Given the description of an element on the screen output the (x, y) to click on. 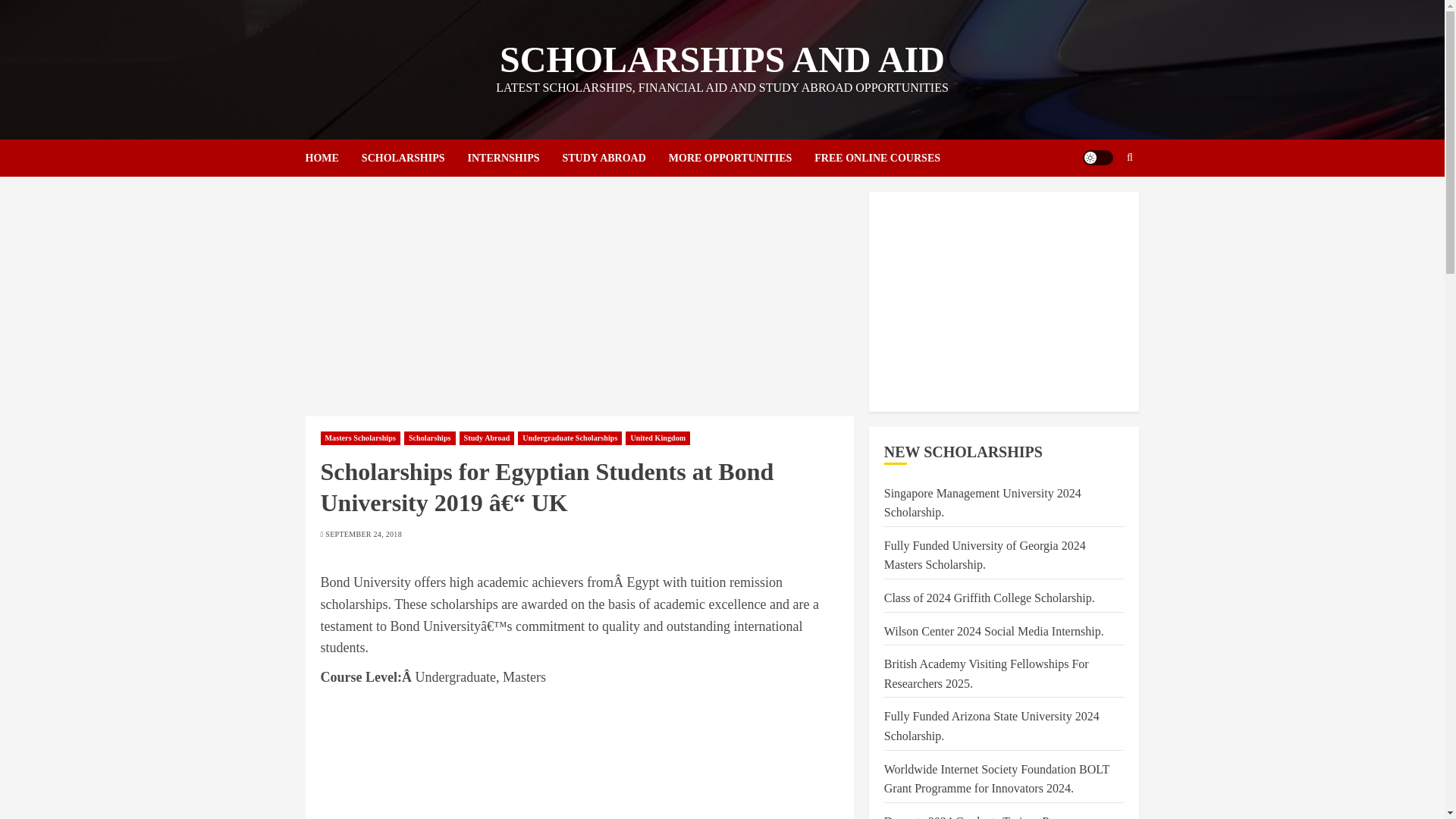
Search (1099, 203)
SCHOLARSHIPS AND AID (721, 59)
SCHOLARSHIPS (414, 157)
INTERNSHIPS (514, 157)
Class of 2024 Griffith College Scholarship. (988, 598)
Masters Scholarships (359, 438)
Wilson Center 2024 Social Media Internship. (993, 631)
FREE ONLINE COURSES (876, 157)
Fully Funded University of Georgia 2024 Masters Scholarship. (984, 555)
Fully Funded Arizona State University 2024 Scholarship. (991, 726)
British Academy Visiting Fellowships For Researchers 2025. (986, 674)
Study Abroad (487, 438)
HOME (332, 157)
SEPTEMBER 24, 2018 (362, 534)
United Kingdom (658, 438)
